Given the description of an element on the screen output the (x, y) to click on. 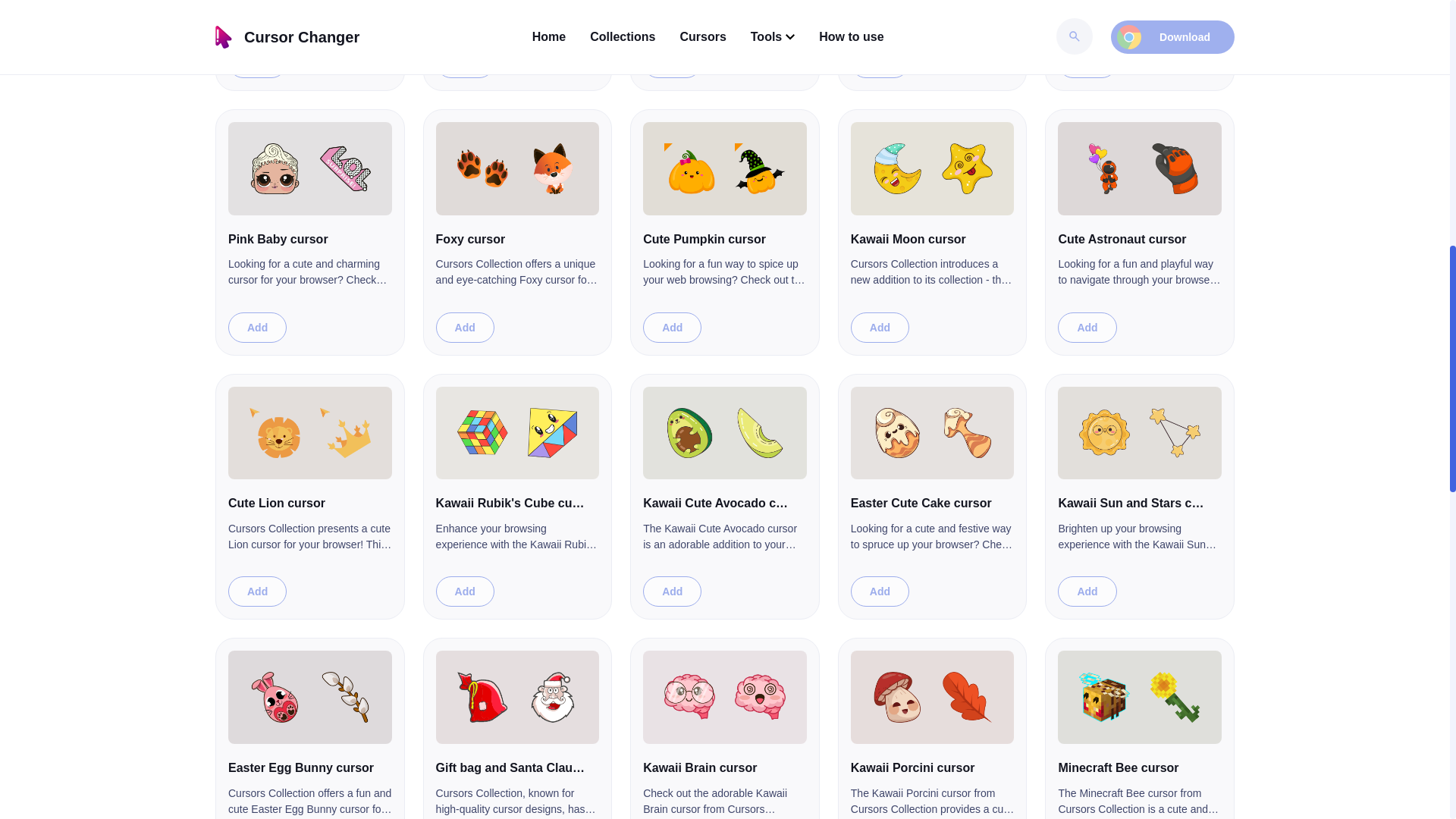
Add (465, 327)
Add (257, 327)
Add (465, 62)
Add (672, 62)
Add (257, 62)
Add (672, 327)
Add (1087, 62)
Add (879, 62)
